Given the description of an element on the screen output the (x, y) to click on. 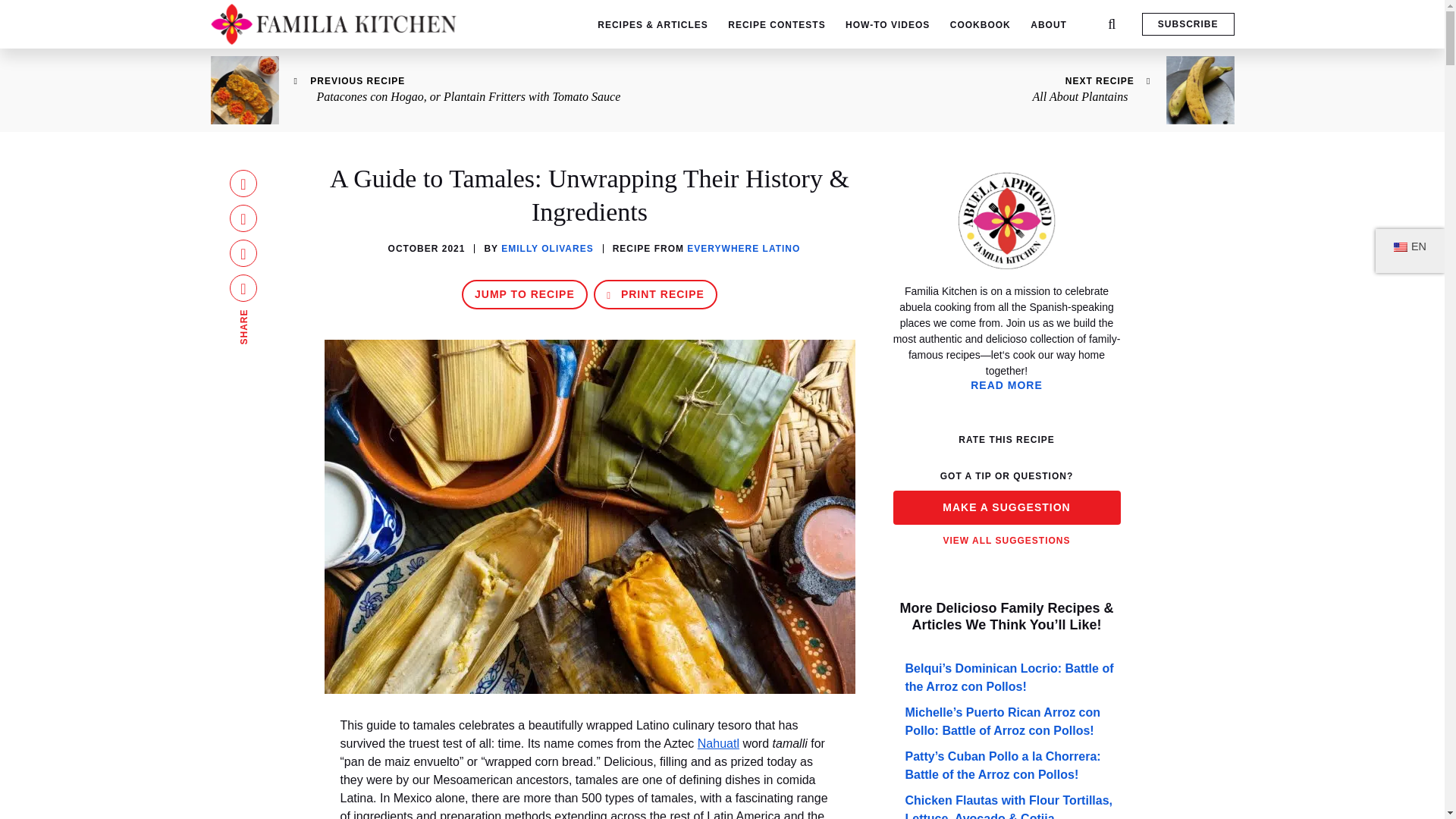
Share on Pinterest (243, 252)
Share via E-mail (243, 288)
ABOUT (1048, 24)
RECIPE CONTESTS (776, 24)
Share on Facebook (243, 183)
COOKBOOK (980, 24)
HOW-TO VIDEOS (887, 24)
SUBSCRIBE (1187, 24)
Search (20, 7)
